Given the description of an element on the screen output the (x, y) to click on. 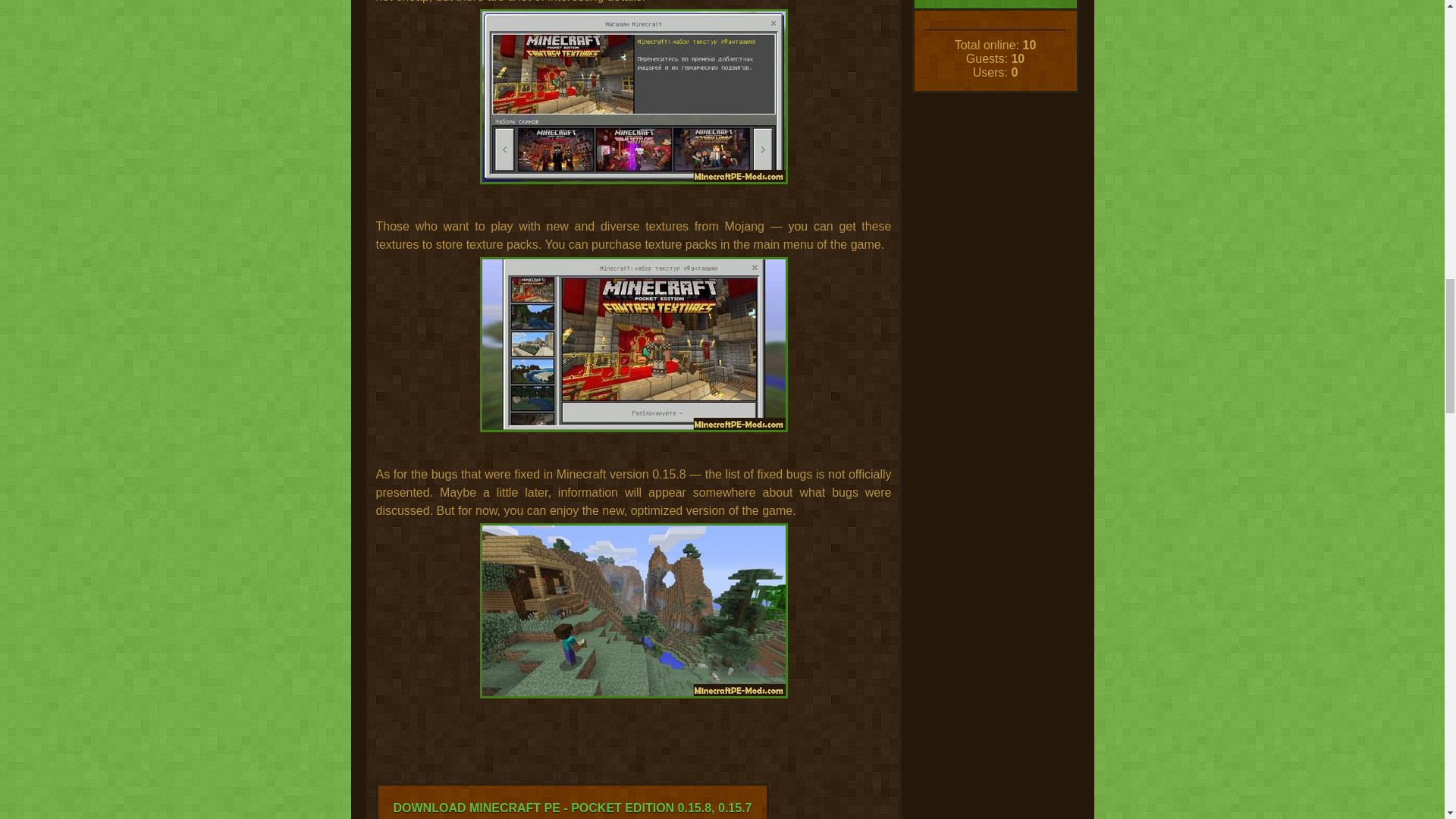
Download Minecraft PE - Pocket Edition 0.15.8, 0.15.7 (633, 96)
Click to view in full size... (633, 111)
Click to view in full size... (633, 359)
